Given the description of an element on the screen output the (x, y) to click on. 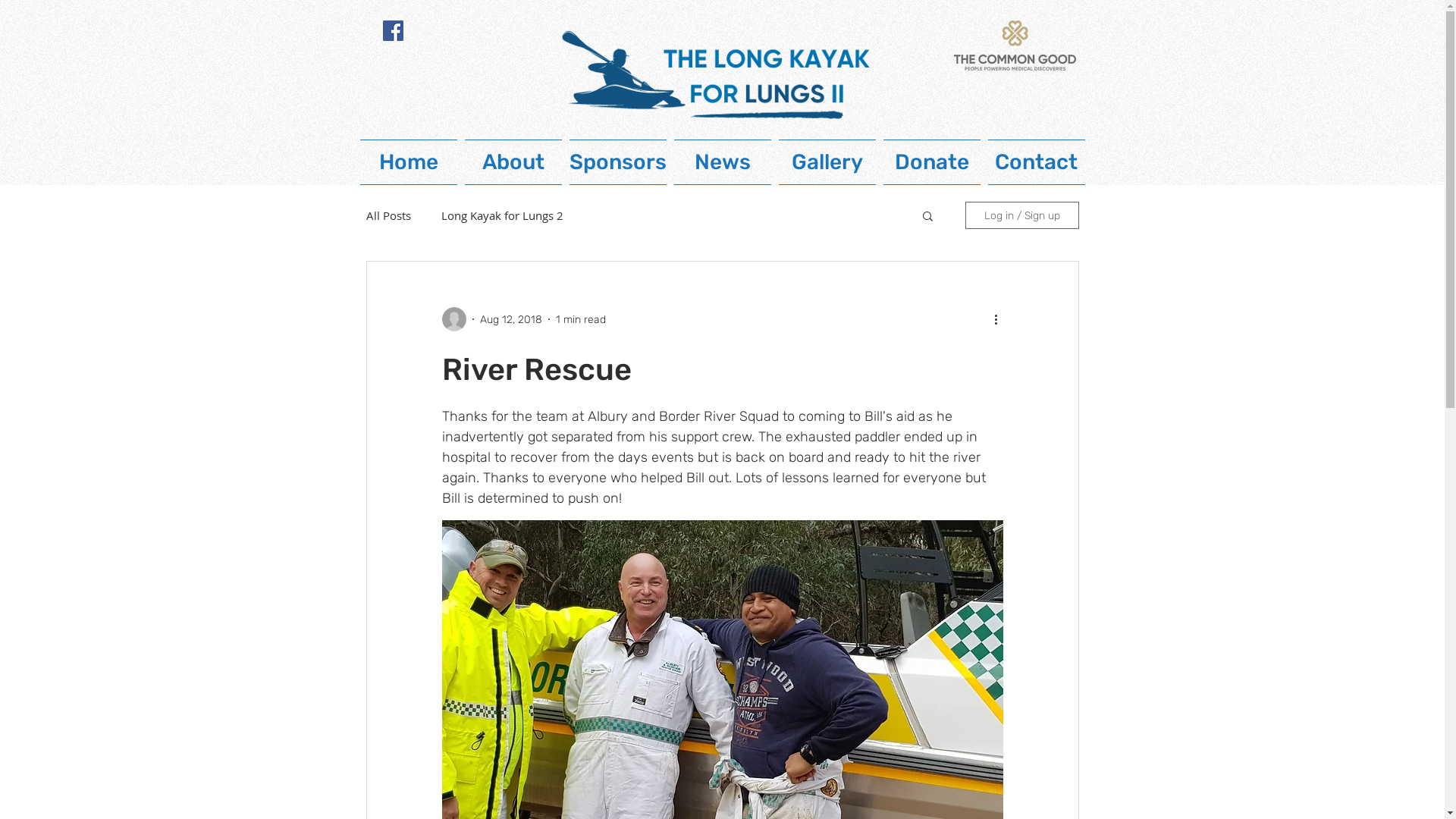
Donate Element type: text (931, 162)
Sponsors Element type: text (617, 162)
Home Element type: text (408, 162)
News Element type: text (722, 162)
About Element type: text (513, 162)
All Posts Element type: text (387, 214)
Gallery Element type: text (827, 162)
Long Kayak for Lungs 2 Element type: text (502, 214)
Contact Element type: text (1036, 162)
Log in / Sign up Element type: text (1021, 215)
